Given the description of an element on the screen output the (x, y) to click on. 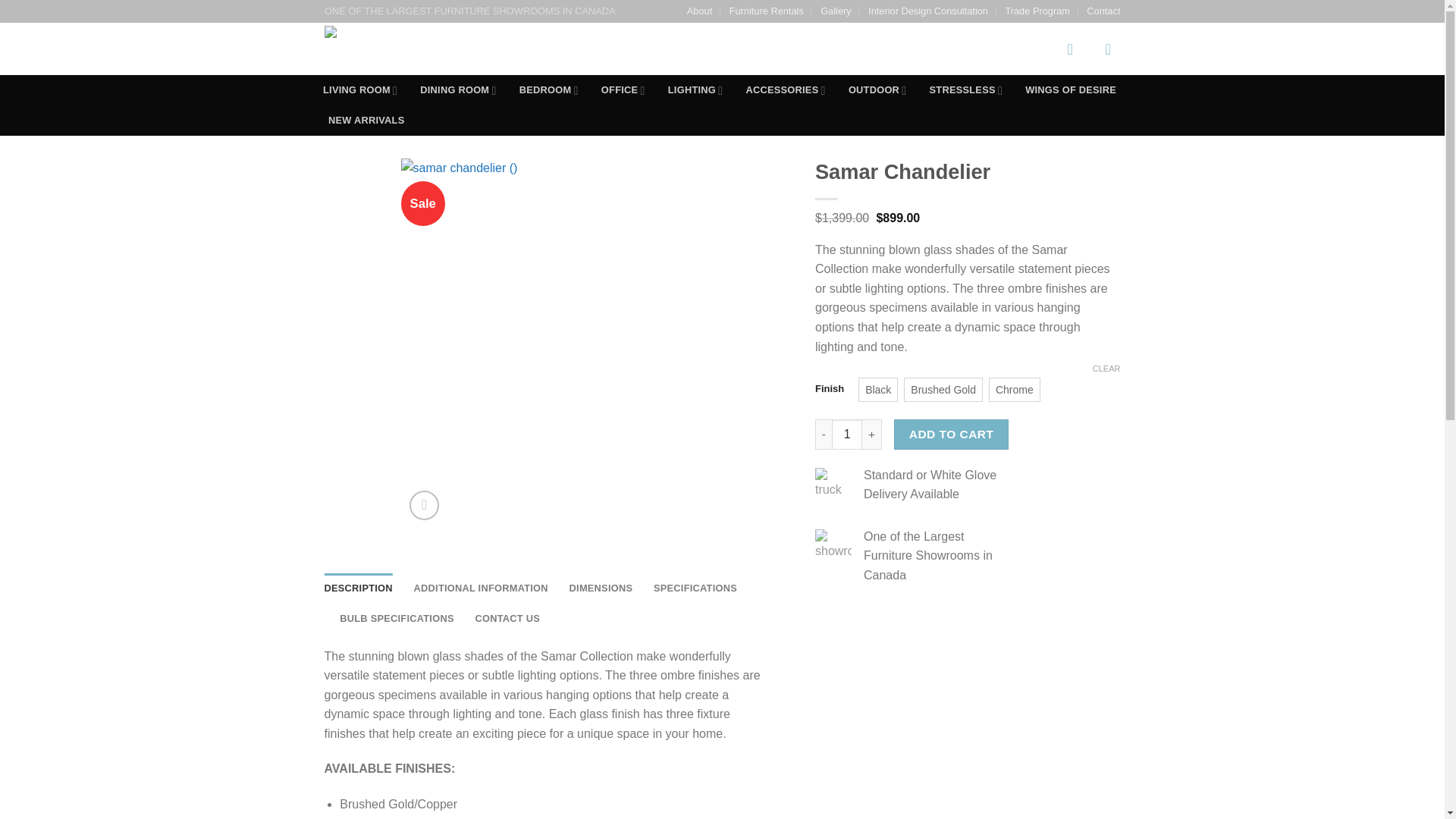
1 (846, 434)
Chrome (1014, 389)
Zoom (424, 505)
About (699, 11)
Search (1029, 49)
VISIT OUR SHOWROOM (683, 48)
Trade Program (1037, 11)
LIVING ROOM (359, 90)
Black (877, 389)
Interior Design Consultation (927, 11)
